Given the description of an element on the screen output the (x, y) to click on. 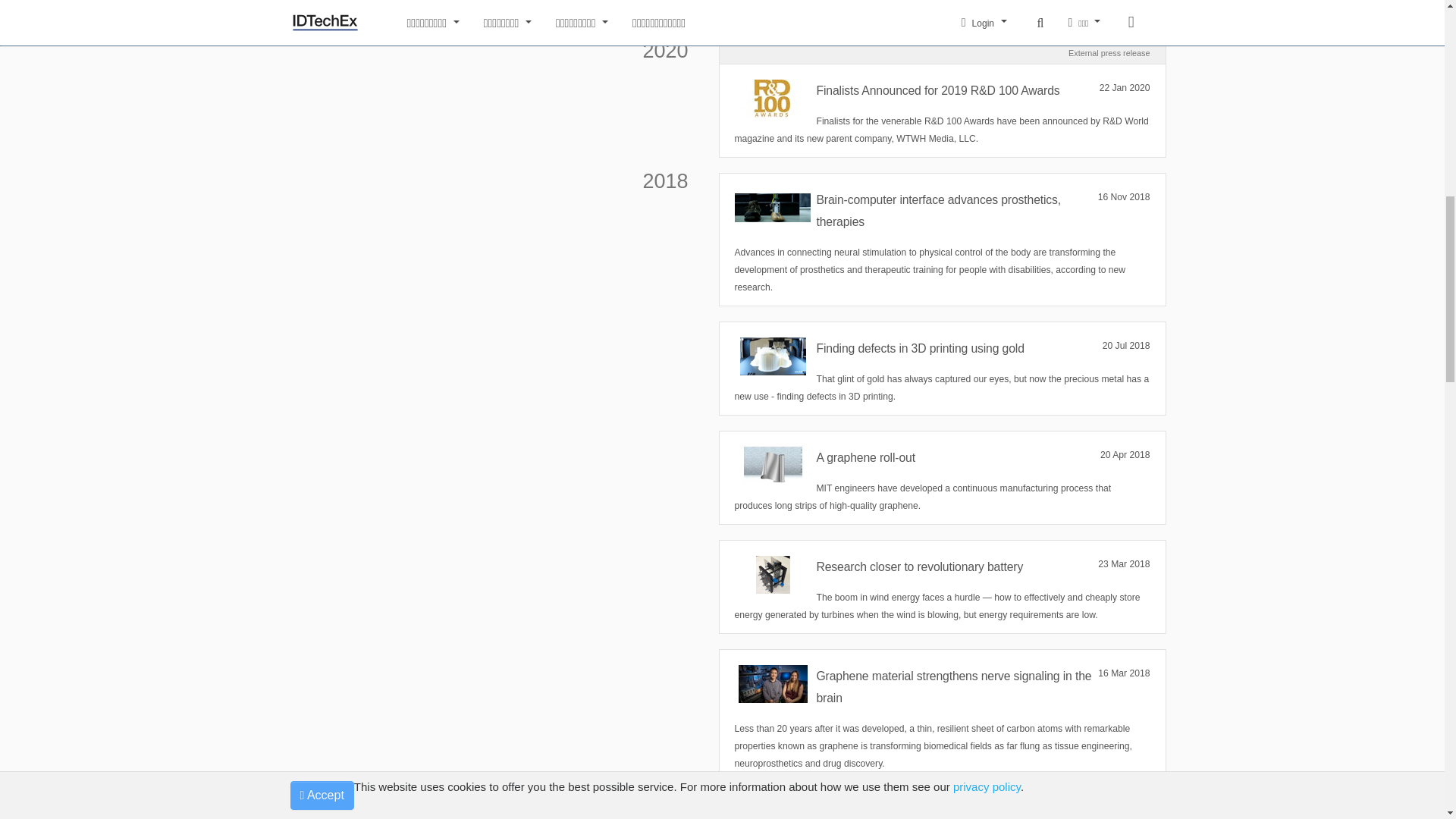
16 Nov 2018 (1123, 197)
22 Jan 2020 (1124, 88)
16 Mar 2018 (1123, 673)
20 Apr 2018 (1125, 455)
23 Feb 2018 (1123, 816)
23 Mar 2018 (1123, 564)
20 Jul 2018 (1126, 345)
